Given the description of an element on the screen output the (x, y) to click on. 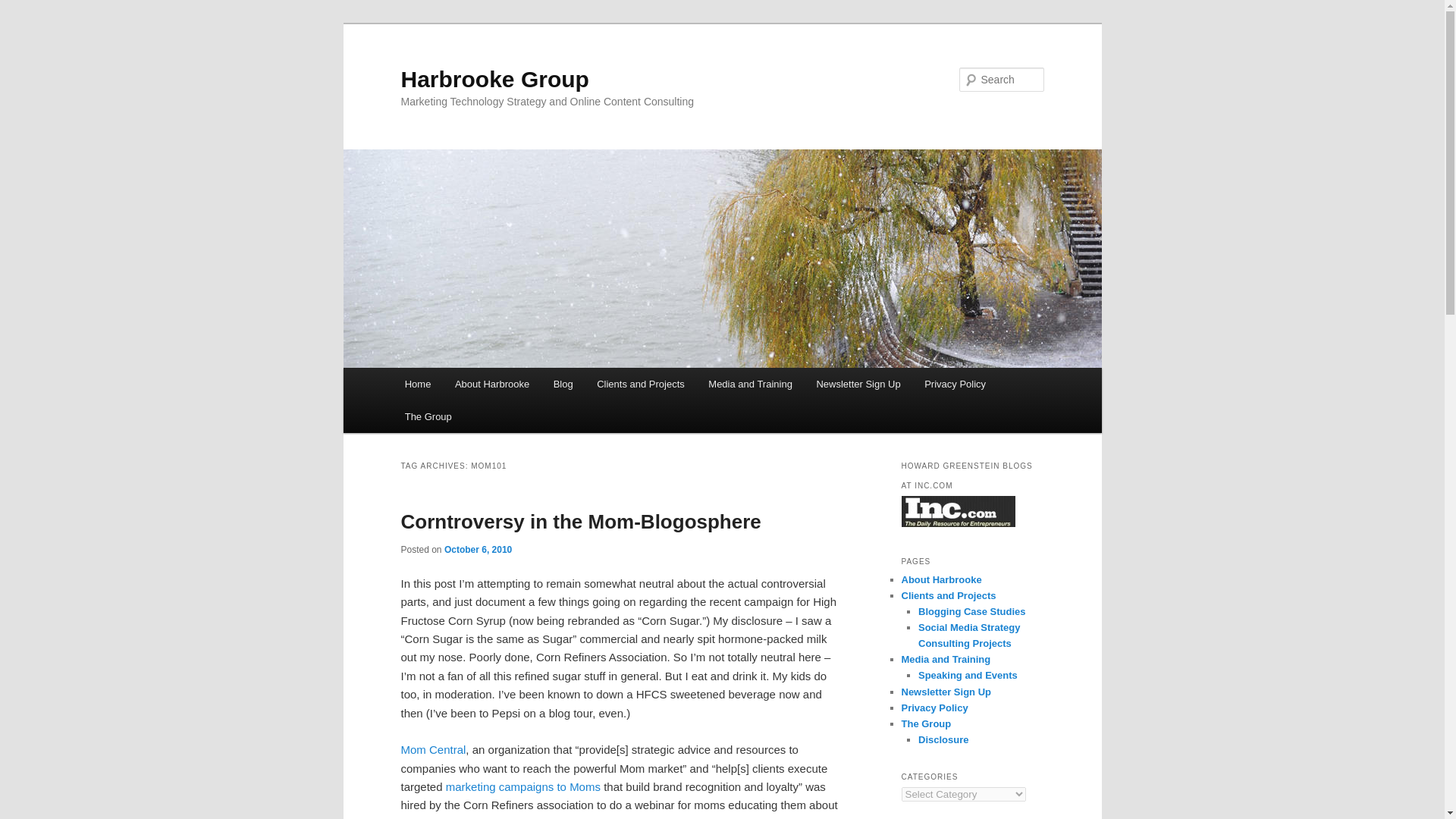
Clients and Projects (640, 383)
October 6, 2010 (478, 549)
Mom Central (432, 748)
The Group (428, 416)
Privacy Policy (954, 383)
Newsletter Sign Up (858, 383)
Corntroversy in the Mom-Blogosphere (580, 521)
marketing campaigns to Moms (522, 786)
Search (24, 8)
About Harbrooke (491, 383)
